Given the description of an element on the screen output the (x, y) to click on. 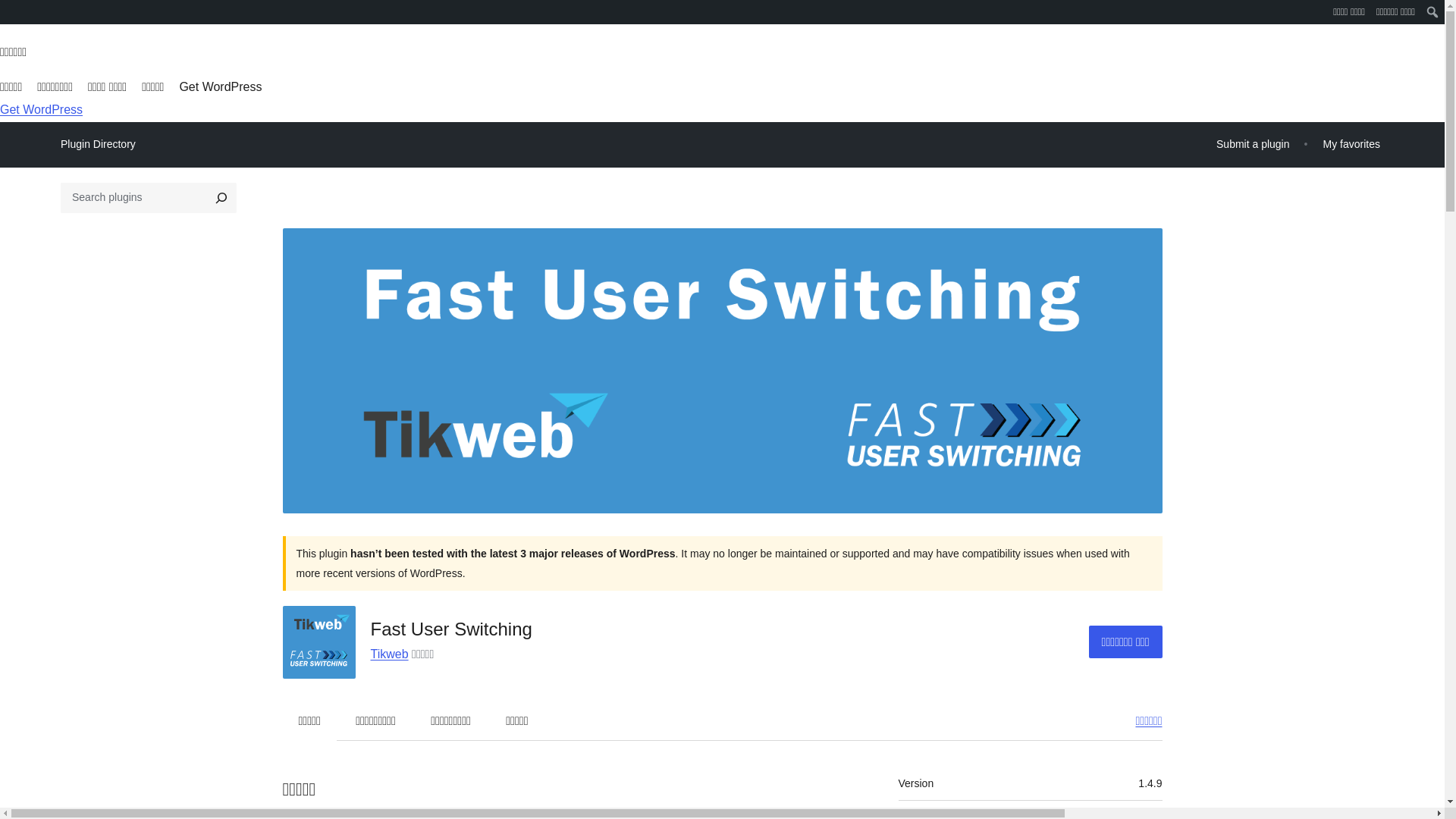
Get WordPress (220, 87)
WordPress.org (10, 10)
Submit a plugin (1253, 144)
WordPress.org (10, 16)
Tikweb (388, 653)
Plugin Directory (97, 143)
My favorites (1351, 144)
Get WordPress (41, 109)
